Given the description of an element on the screen output the (x, y) to click on. 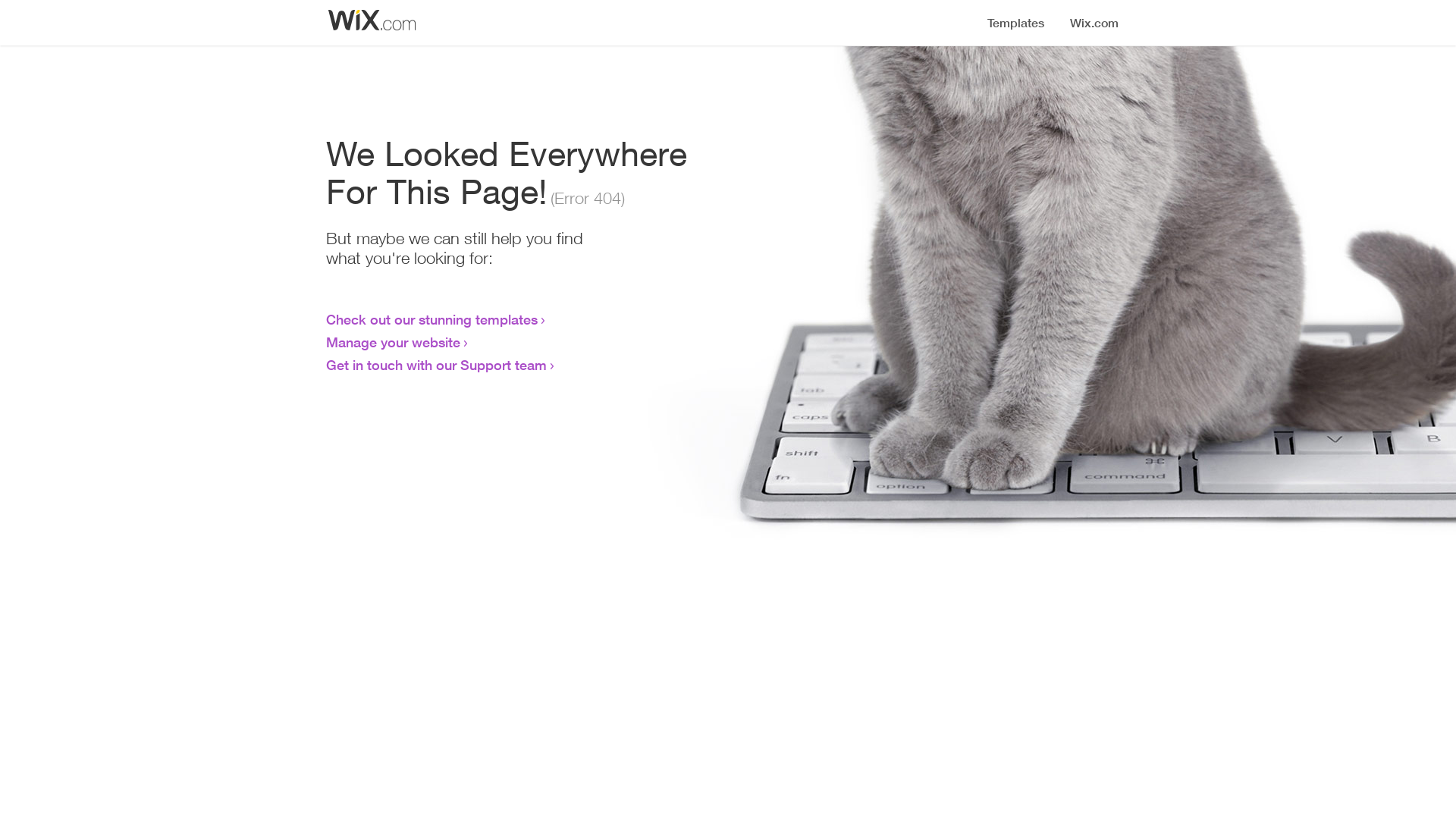
Get in touch with our Support team Element type: text (436, 364)
Check out our stunning templates Element type: text (431, 318)
Manage your website Element type: text (393, 341)
